Given the description of an element on the screen output the (x, y) to click on. 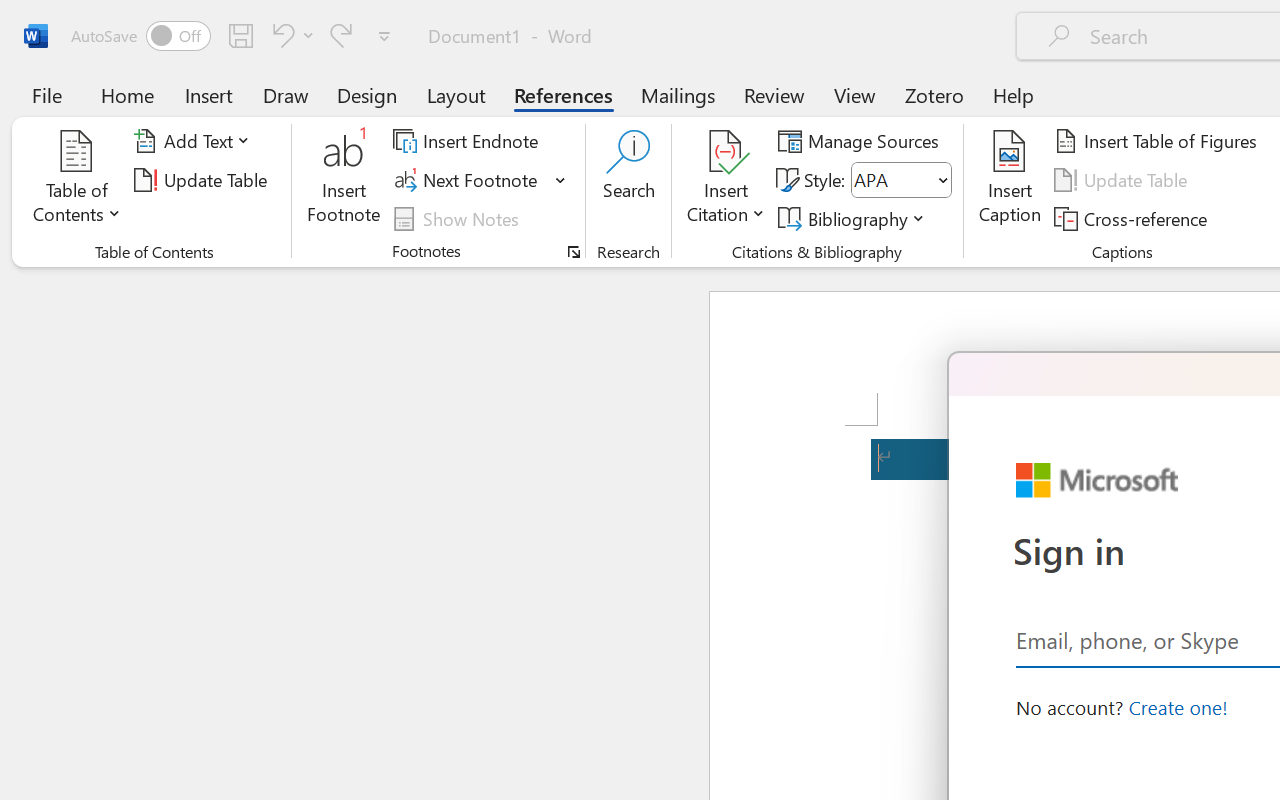
Insert Caption... (1009, 180)
Add Text (195, 141)
Undo Apply Quick Style Set (280, 35)
Style (901, 179)
Next Footnote (468, 179)
Insert Table of Figures... (1158, 141)
Undo Apply Quick Style Set (290, 35)
Insert Endnote (468, 141)
